Given the description of an element on the screen output the (x, y) to click on. 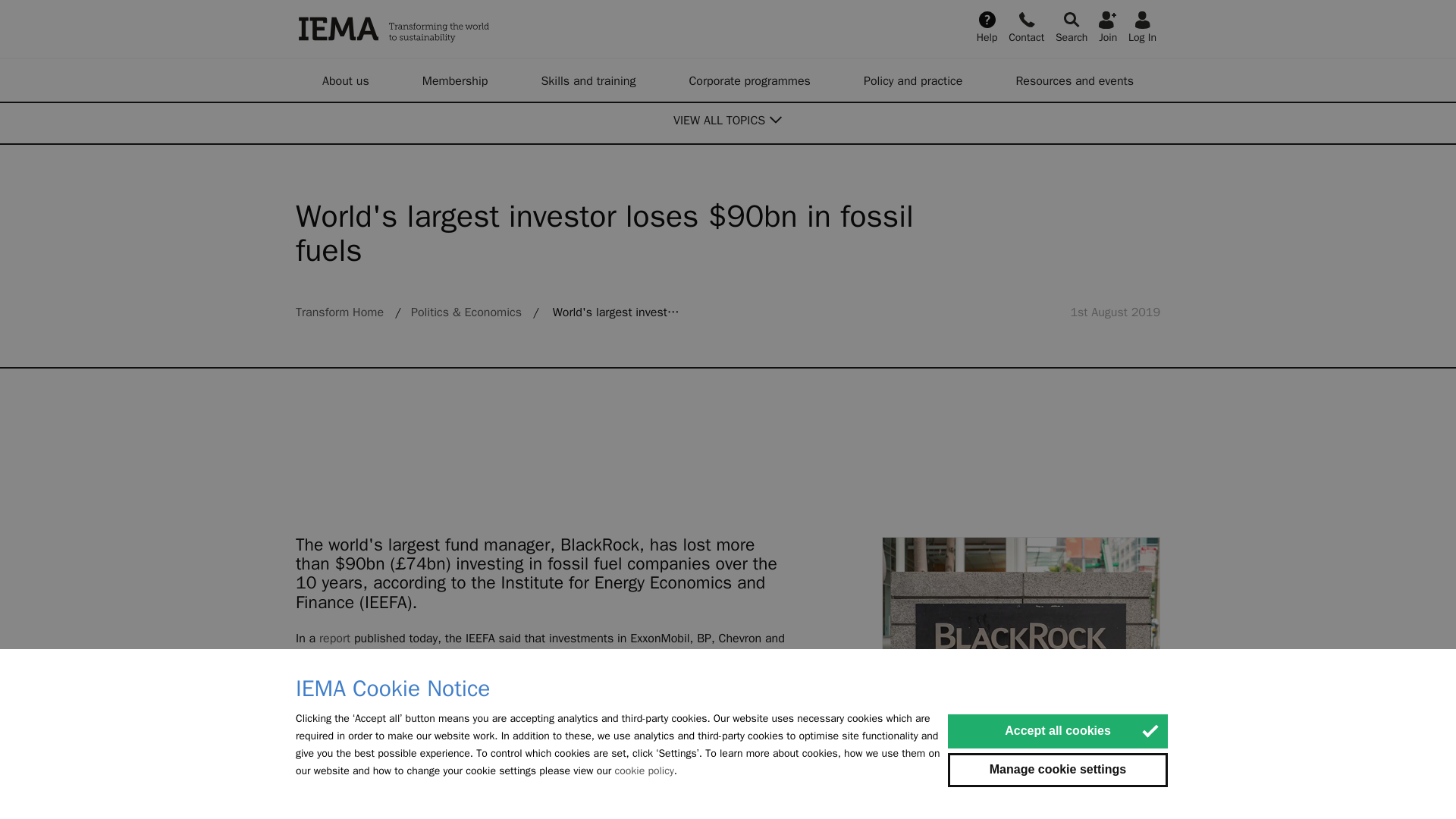
Membership (455, 79)
IEMA (470, 28)
Contact (1026, 26)
About us (345, 79)
